Given the description of an element on the screen output the (x, y) to click on. 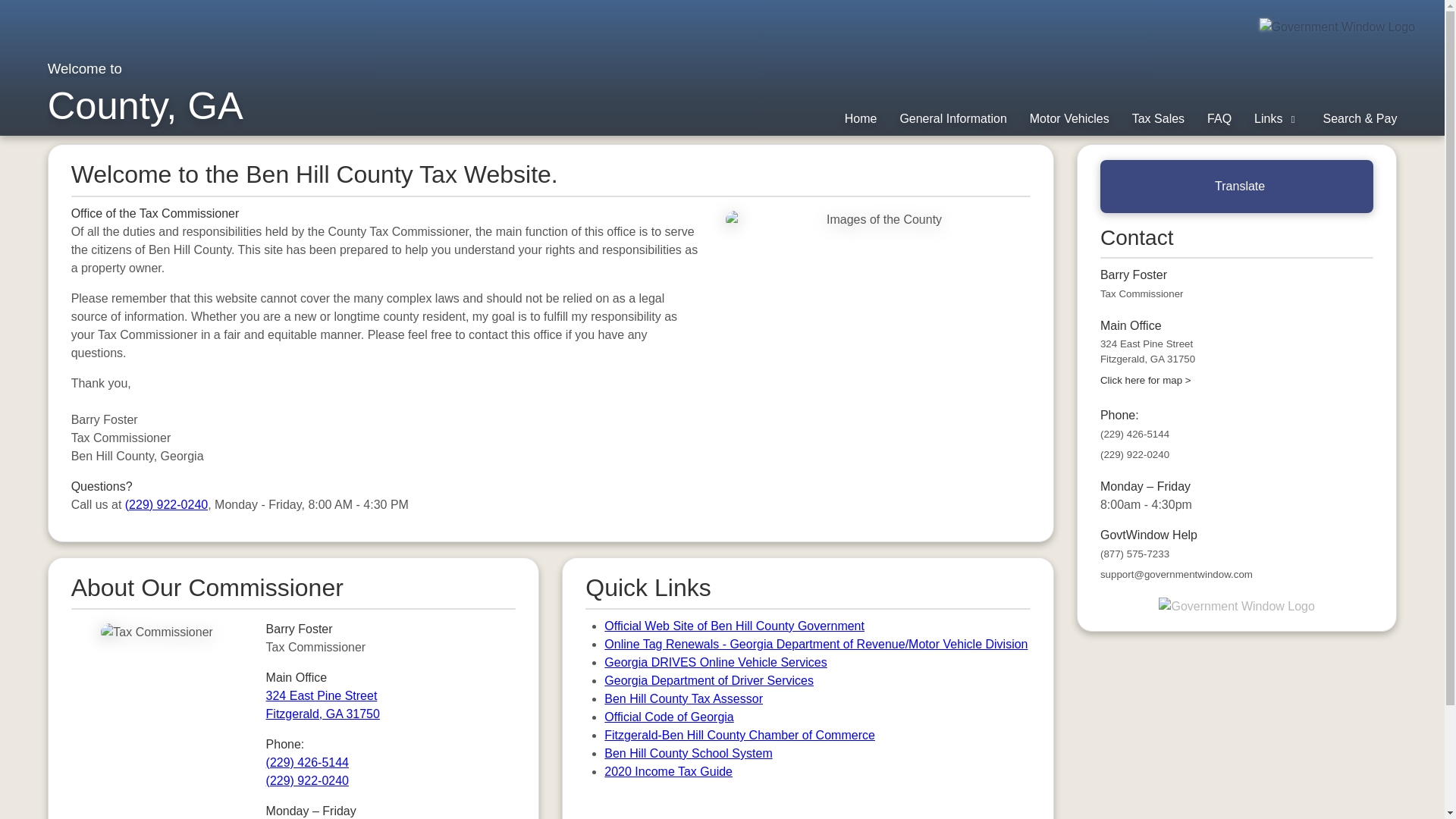
Official Web Site of Ben Hill County Government (734, 625)
Home (860, 118)
Georgia DRIVES Online Vehicle Services (715, 662)
Georgia Department of Driver Services (708, 680)
General Information (952, 118)
Motor Vehicles (323, 704)
Fitzgerald-Ben Hill County Chamber of Commerce (1069, 118)
Official Code of Georgia (739, 735)
Links (668, 716)
FAQ (1276, 118)
Ben Hill County Tax Assessor (1219, 118)
Tax Sales (683, 698)
